Given the description of an element on the screen output the (x, y) to click on. 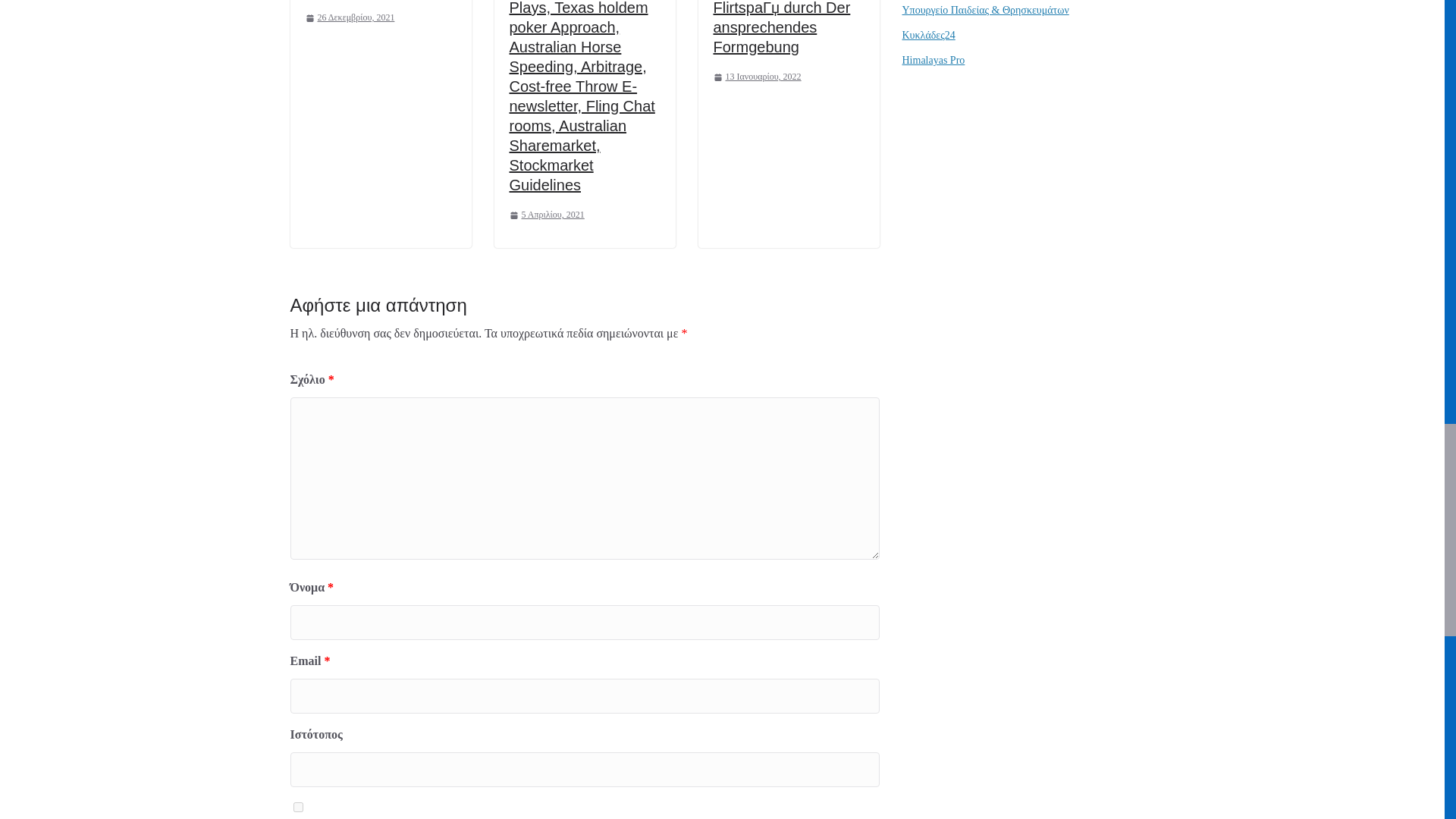
yes (297, 807)
